Given the description of an element on the screen output the (x, y) to click on. 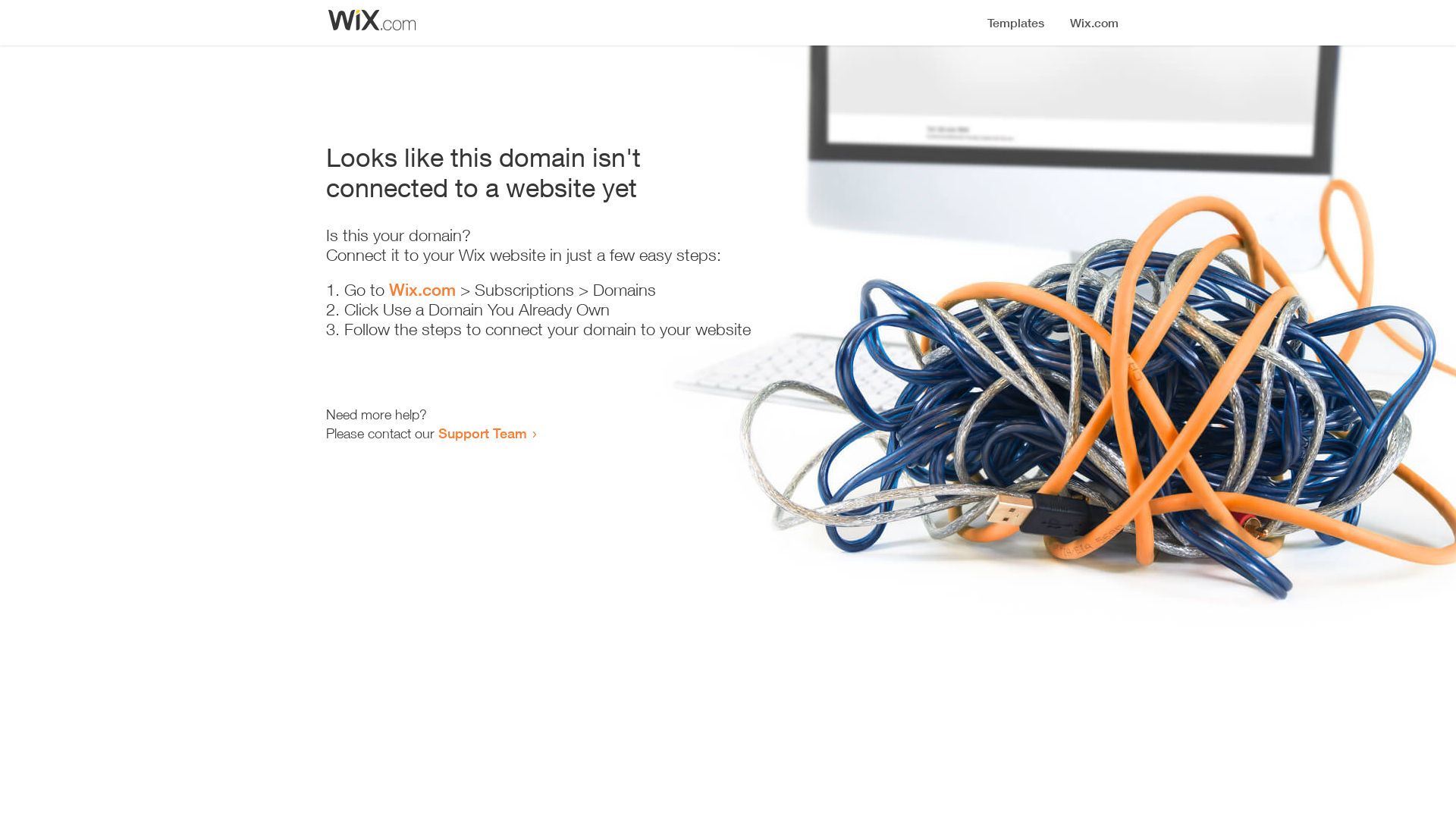
Support Team Element type: text (482, 432)
Wix.com Element type: text (422, 289)
